Given the description of an element on the screen output the (x, y) to click on. 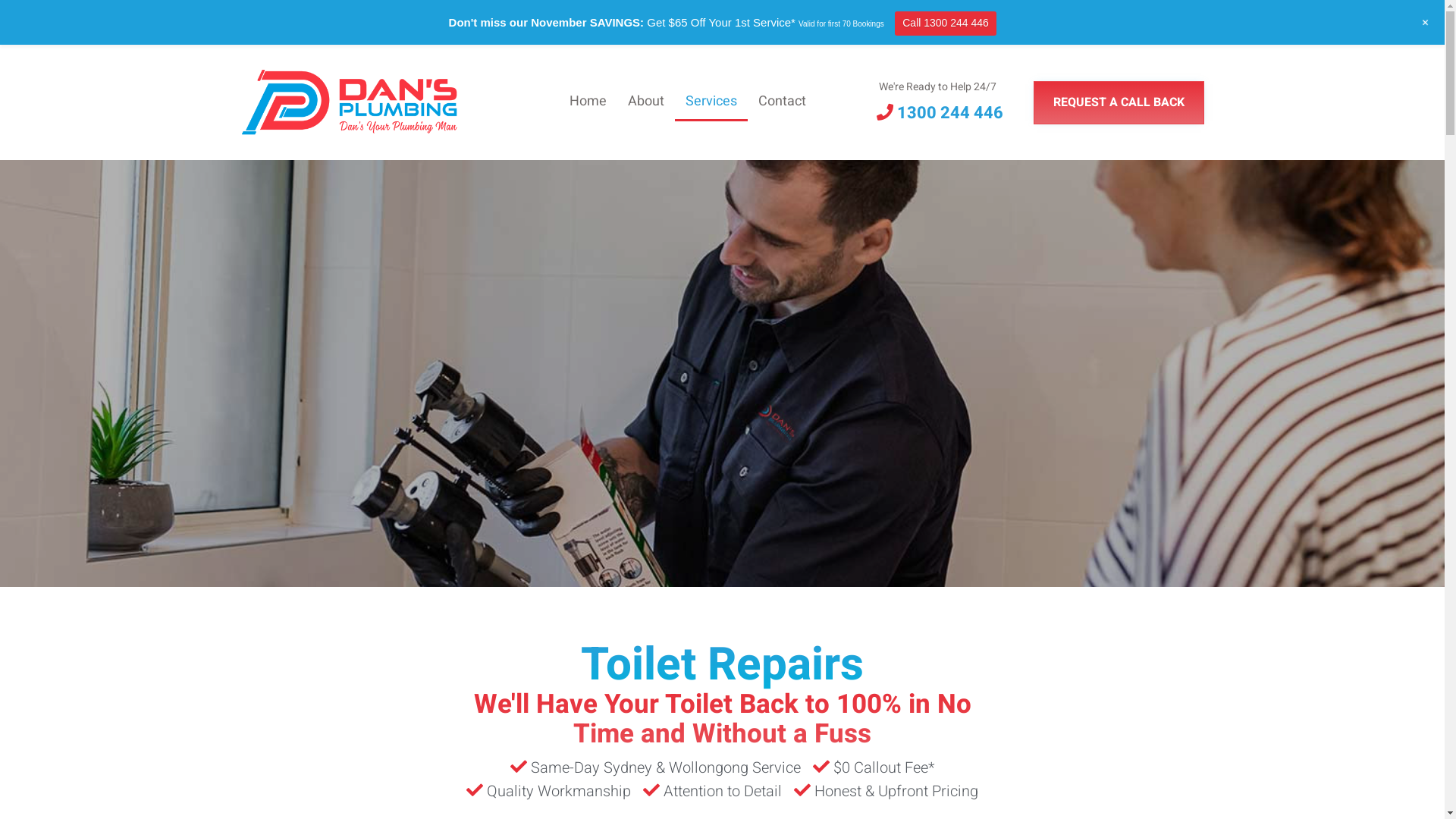
Call 1300 244 446 Element type: text (945, 23)
Contact Element type: text (781, 102)
+ Element type: text (1425, 22)
REQUEST A CALL BACK Element type: text (1117, 101)
About Element type: text (645, 102)
Home Element type: text (587, 102)
Services Element type: text (710, 102)
1300 244 446 Element type: text (939, 113)
